Given the description of an element on the screen output the (x, y) to click on. 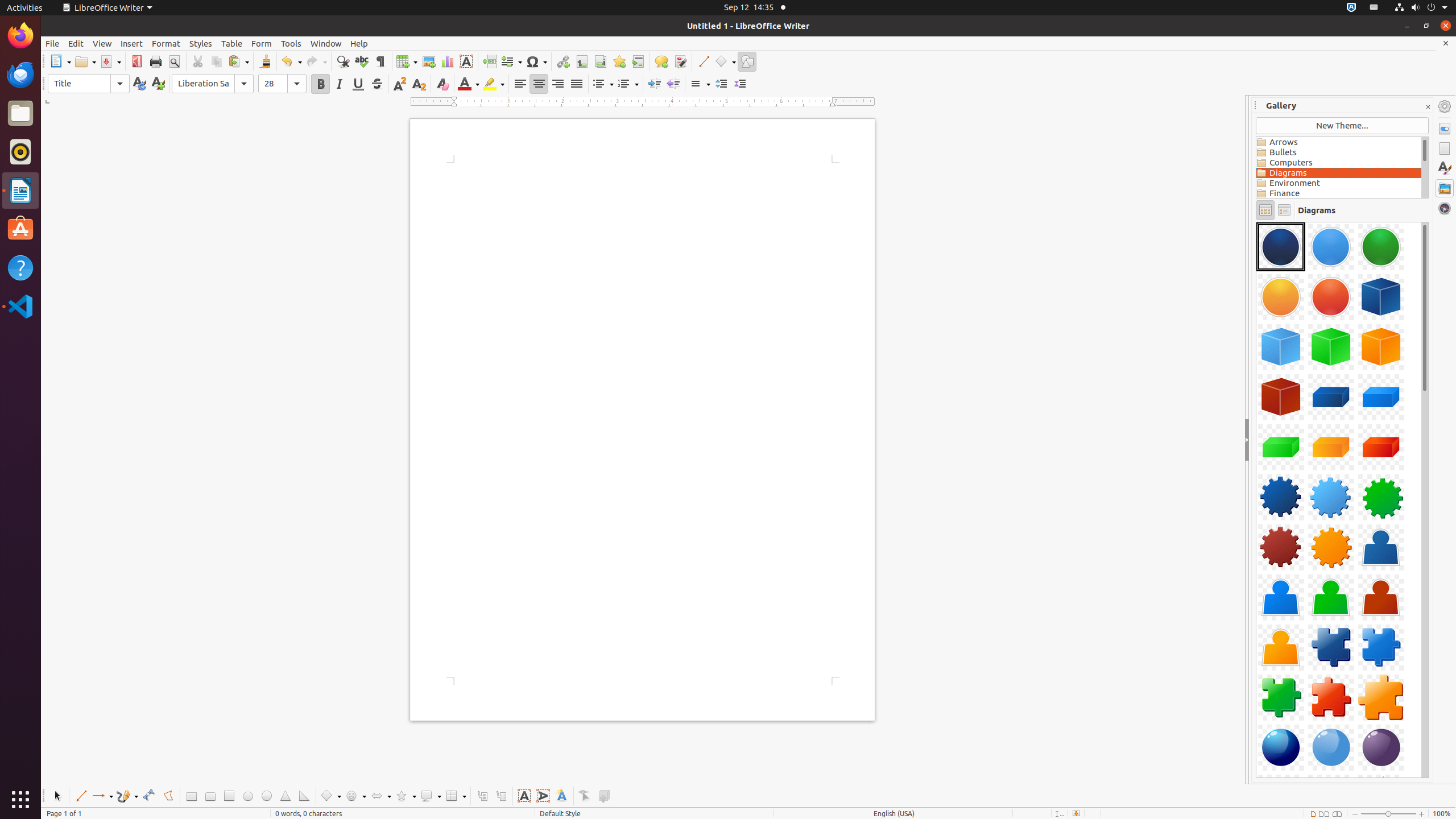
File Element type: menu (51, 43)
Bullets Element type: list-item (1338, 152)
Callout Shapes Element type: push-button (430, 795)
Navigator Element type: radio-button (1444, 208)
Component-PuzzlePiece05-Orange Element type: list-item (1380, 696)
